Given the description of an element on the screen output the (x, y) to click on. 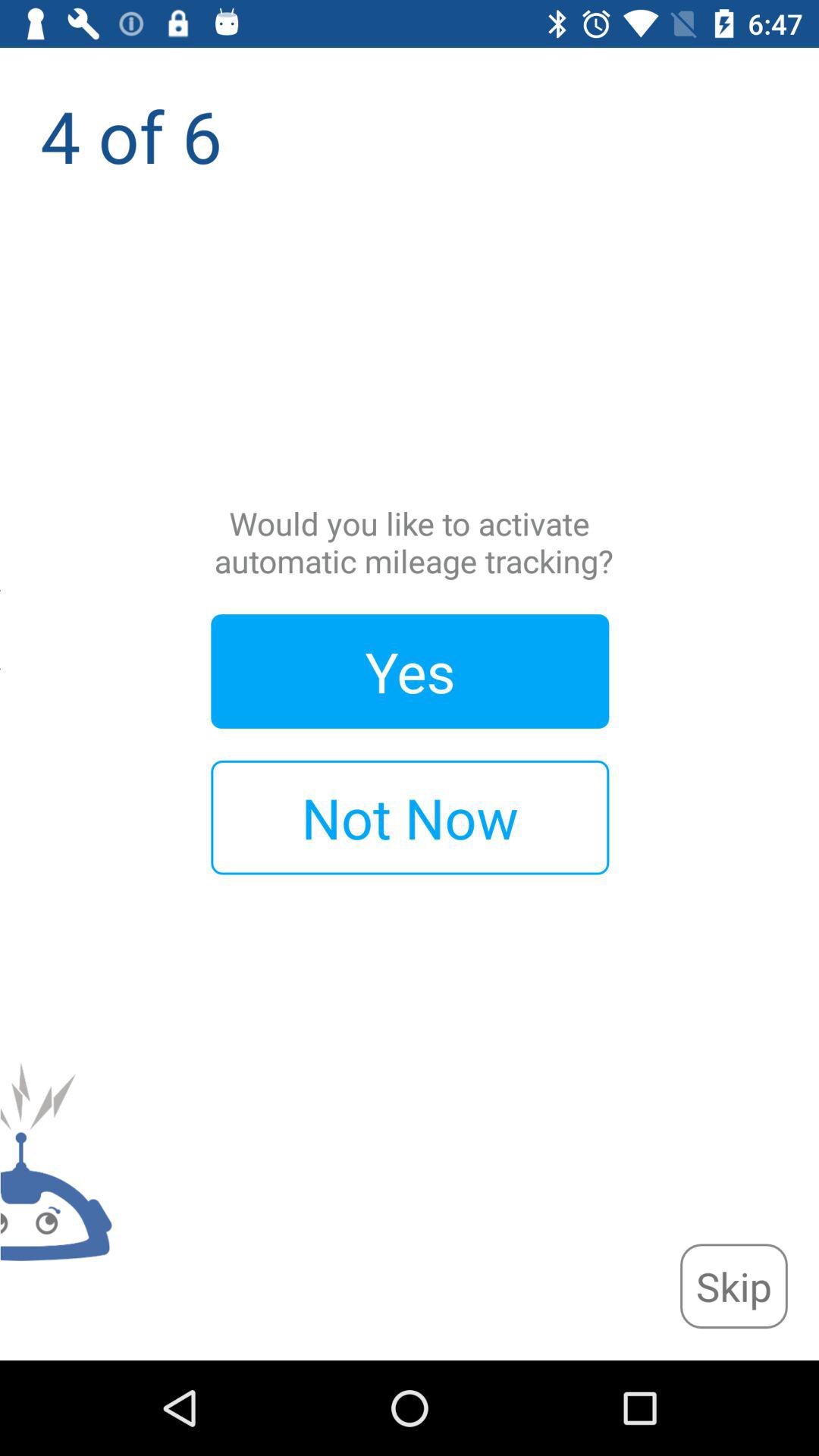
swipe to not now icon (409, 817)
